Given the description of an element on the screen output the (x, y) to click on. 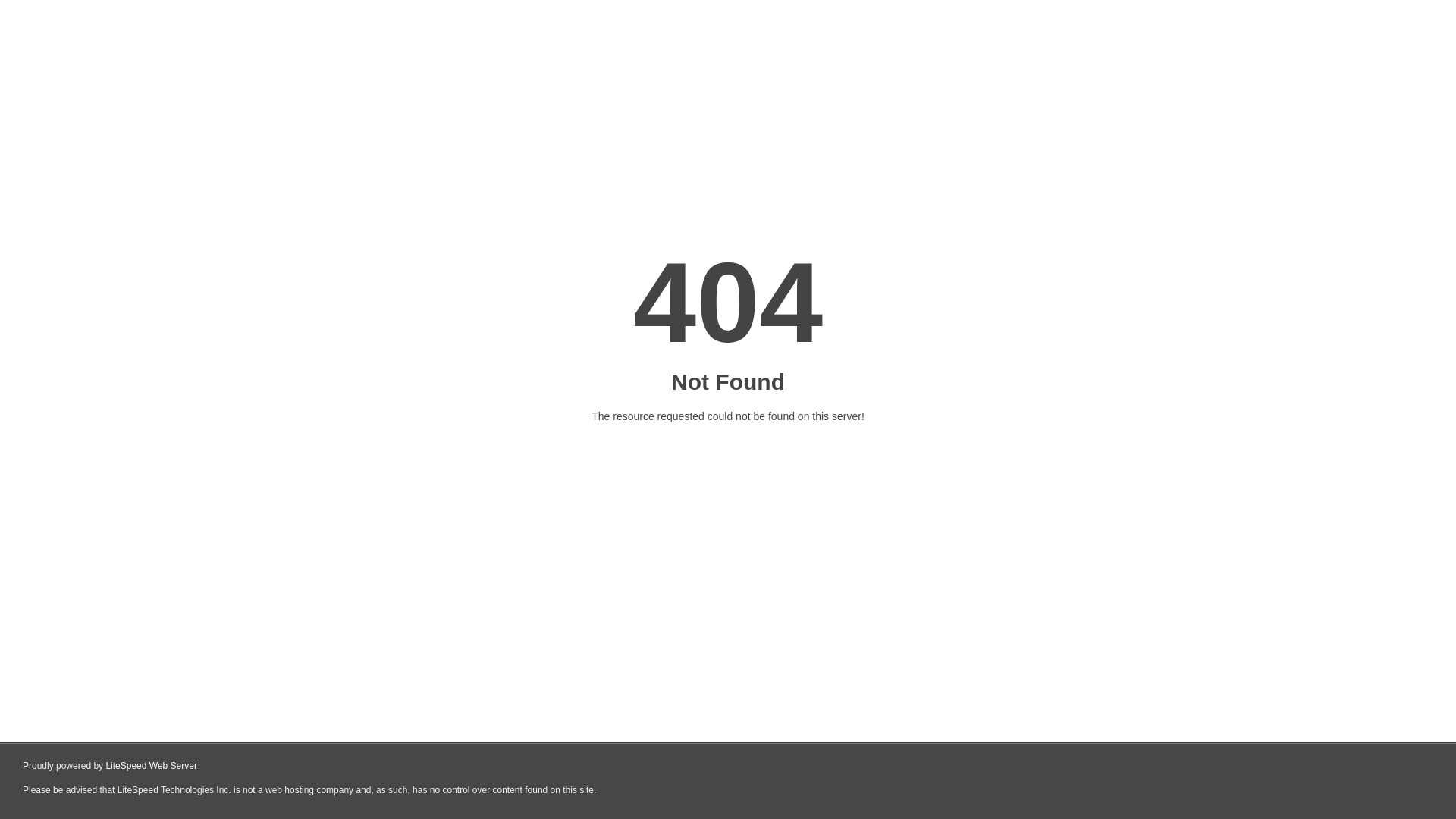
LiteSpeed Web Server Element type: text (151, 765)
